Given the description of an element on the screen output the (x, y) to click on. 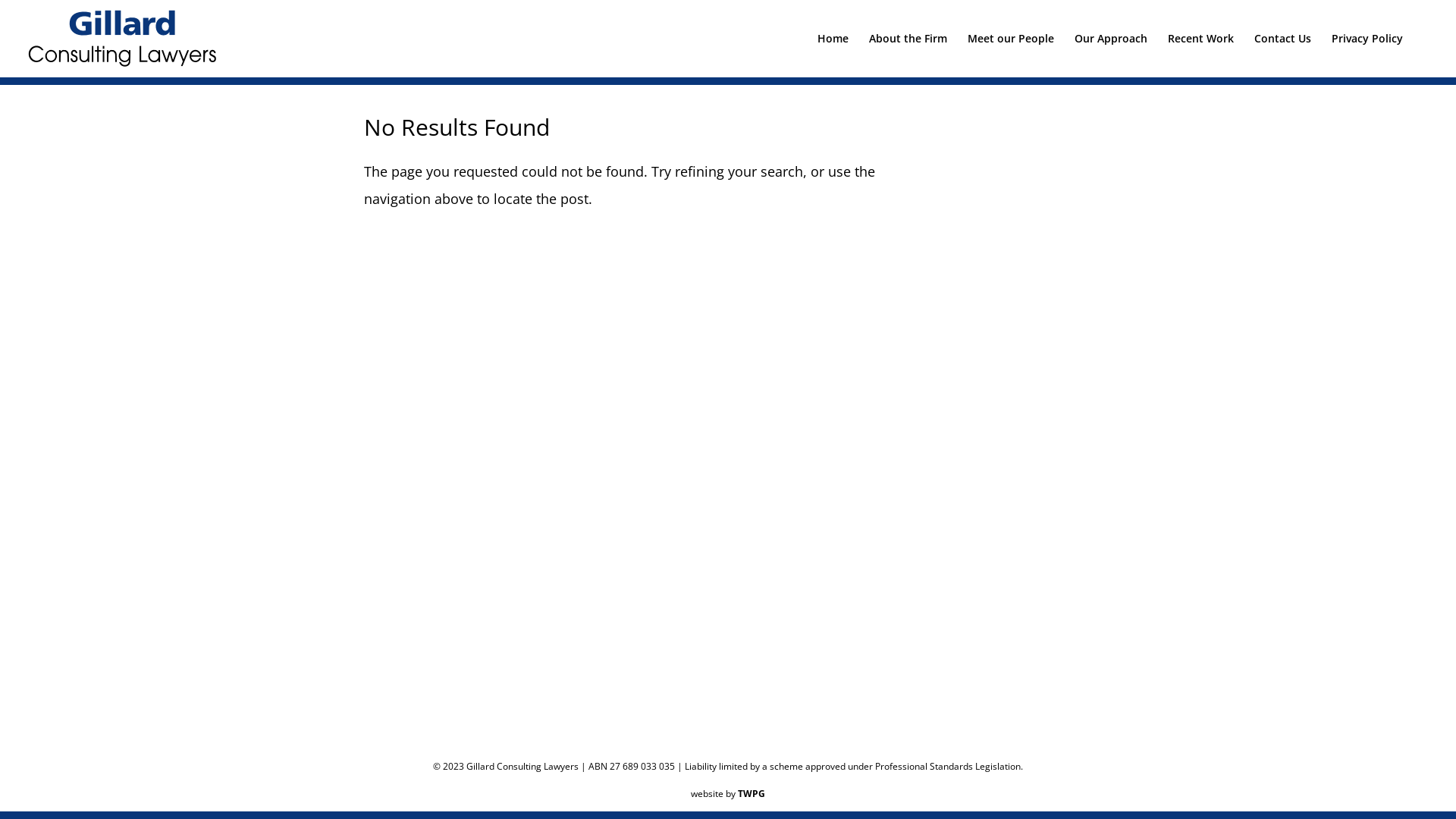
About the Firm Element type: text (908, 51)
Home Element type: text (832, 51)
Meet our People Element type: text (1010, 51)
Contact Us Element type: text (1282, 51)
Recent Work Element type: text (1200, 51)
Our Approach Element type: text (1110, 51)
TWPG Element type: text (751, 793)
Privacy Policy Element type: text (1366, 51)
